Given the description of an element on the screen output the (x, y) to click on. 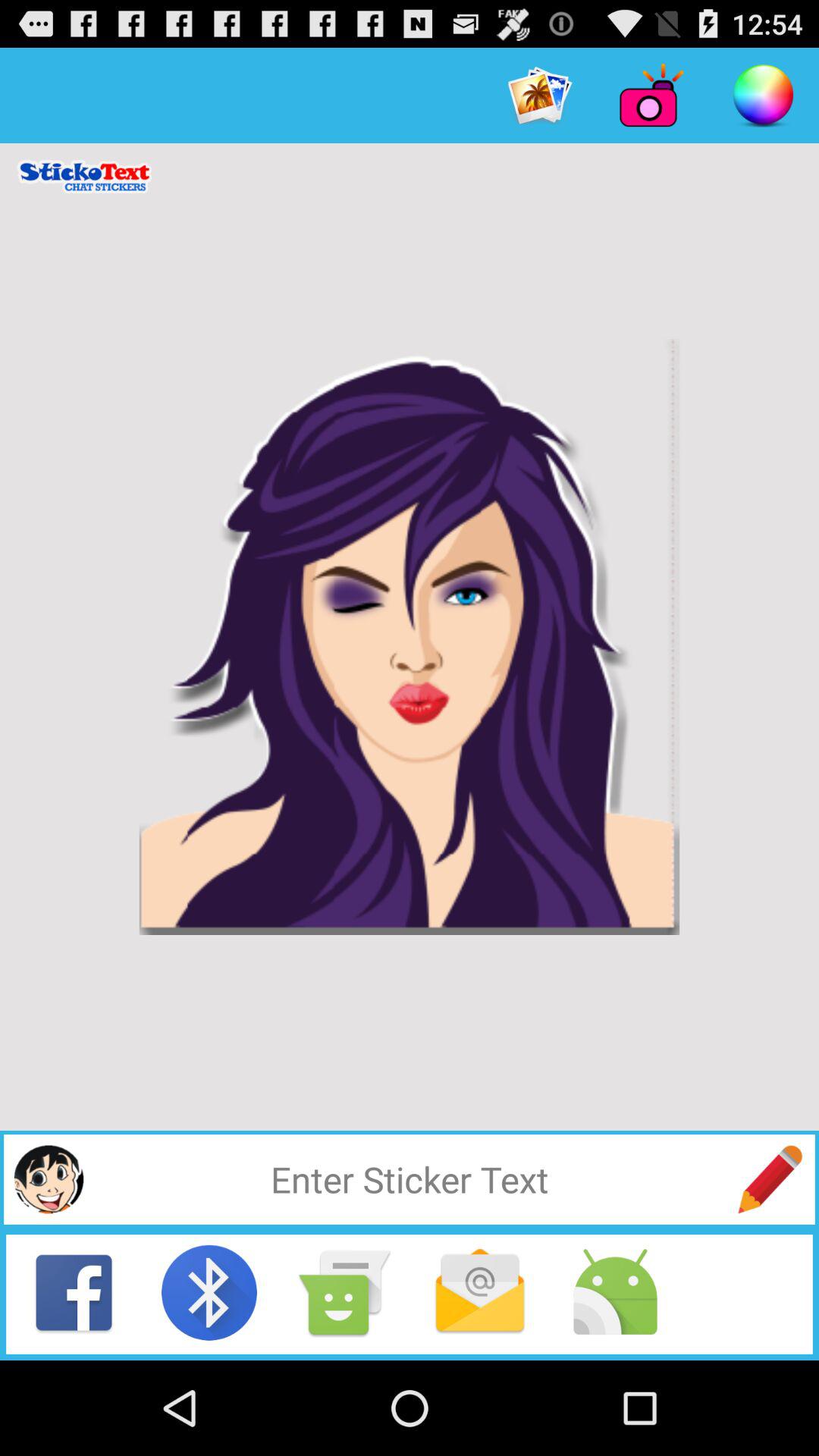
enter sticker text (409, 1179)
